Given the description of an element on the screen output the (x, y) to click on. 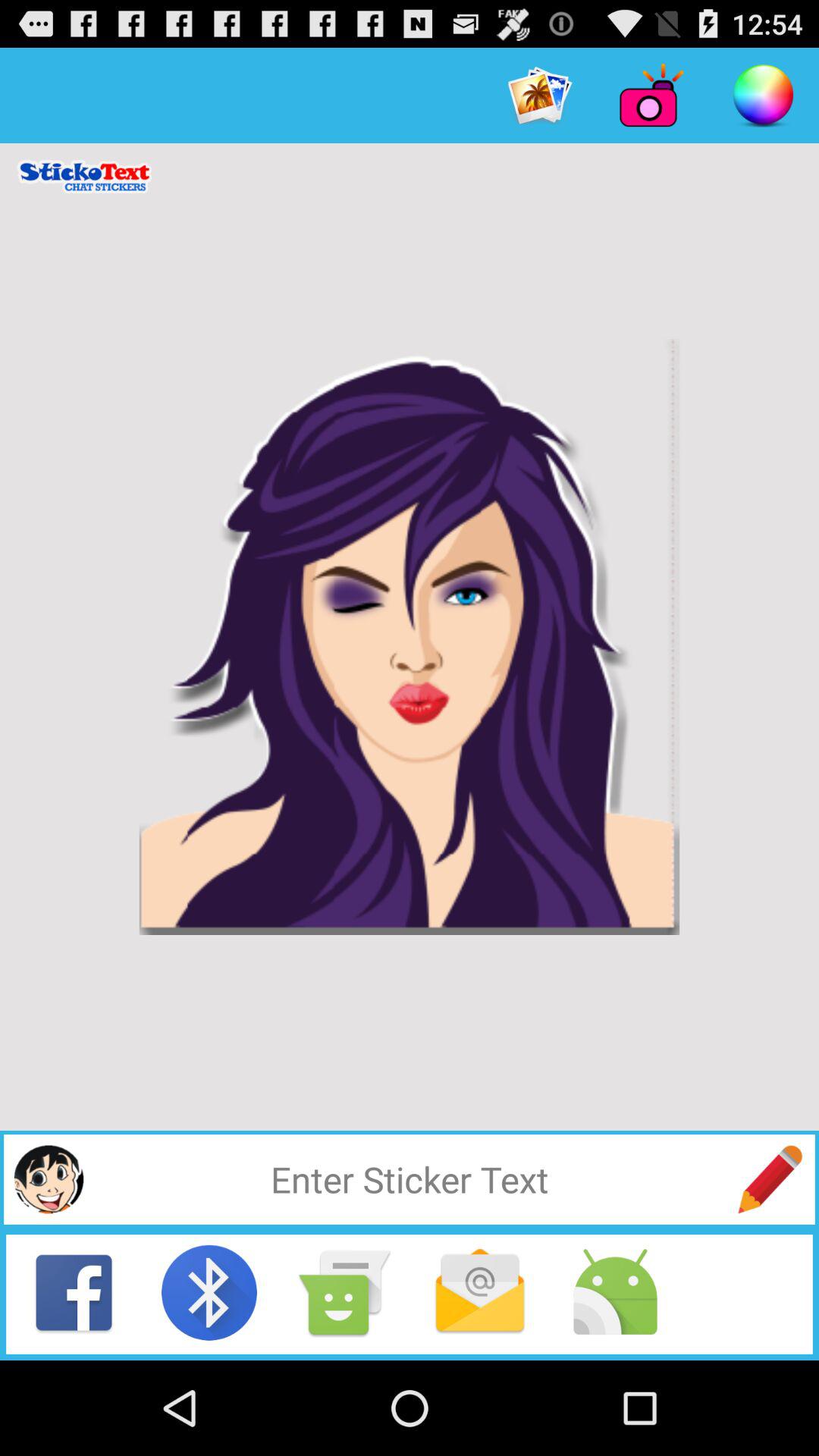
enter sticker text (409, 1179)
